Given the description of an element on the screen output the (x, y) to click on. 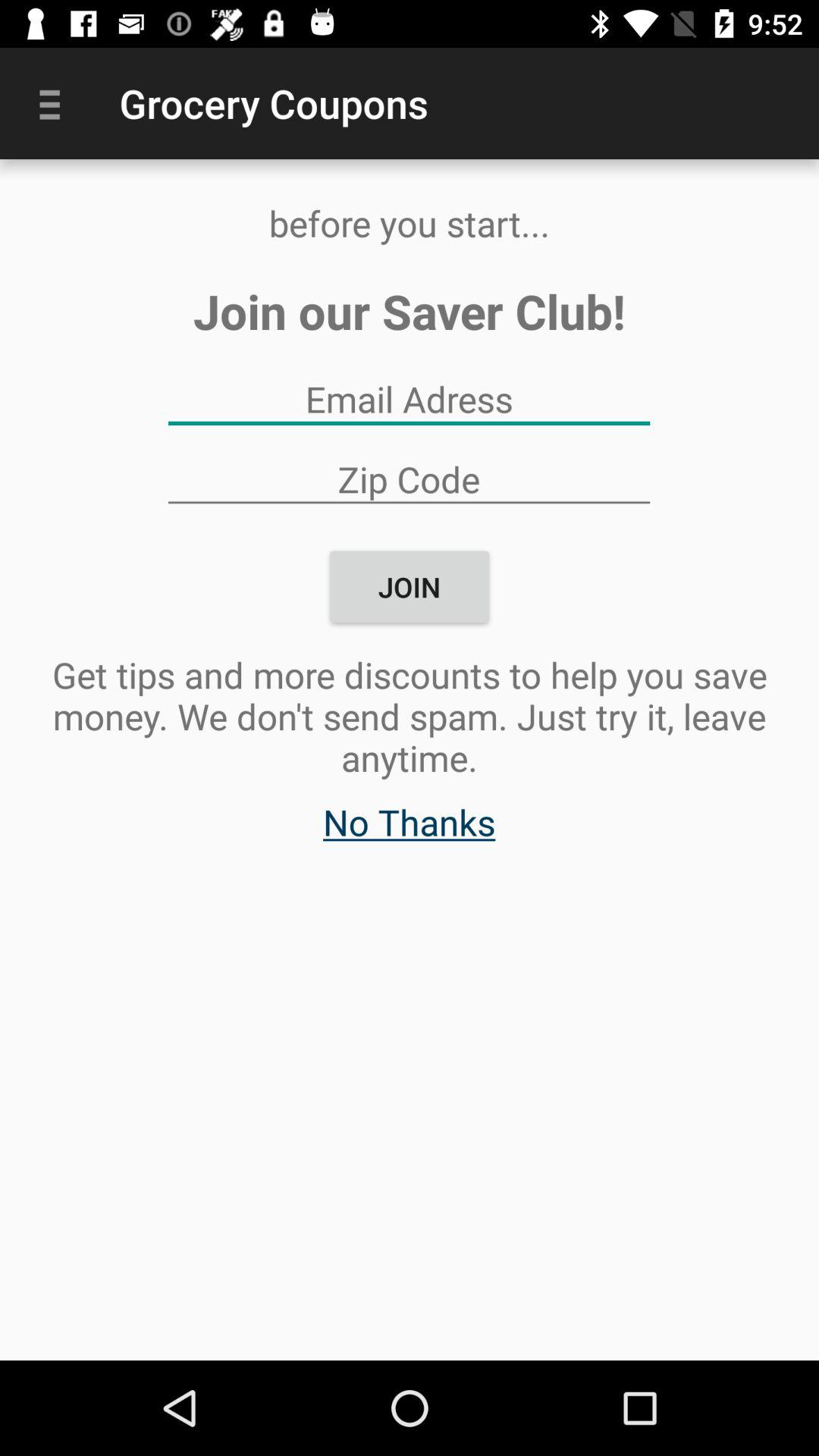
open the item above the before you start... icon (55, 103)
